Given the description of an element on the screen output the (x, y) to click on. 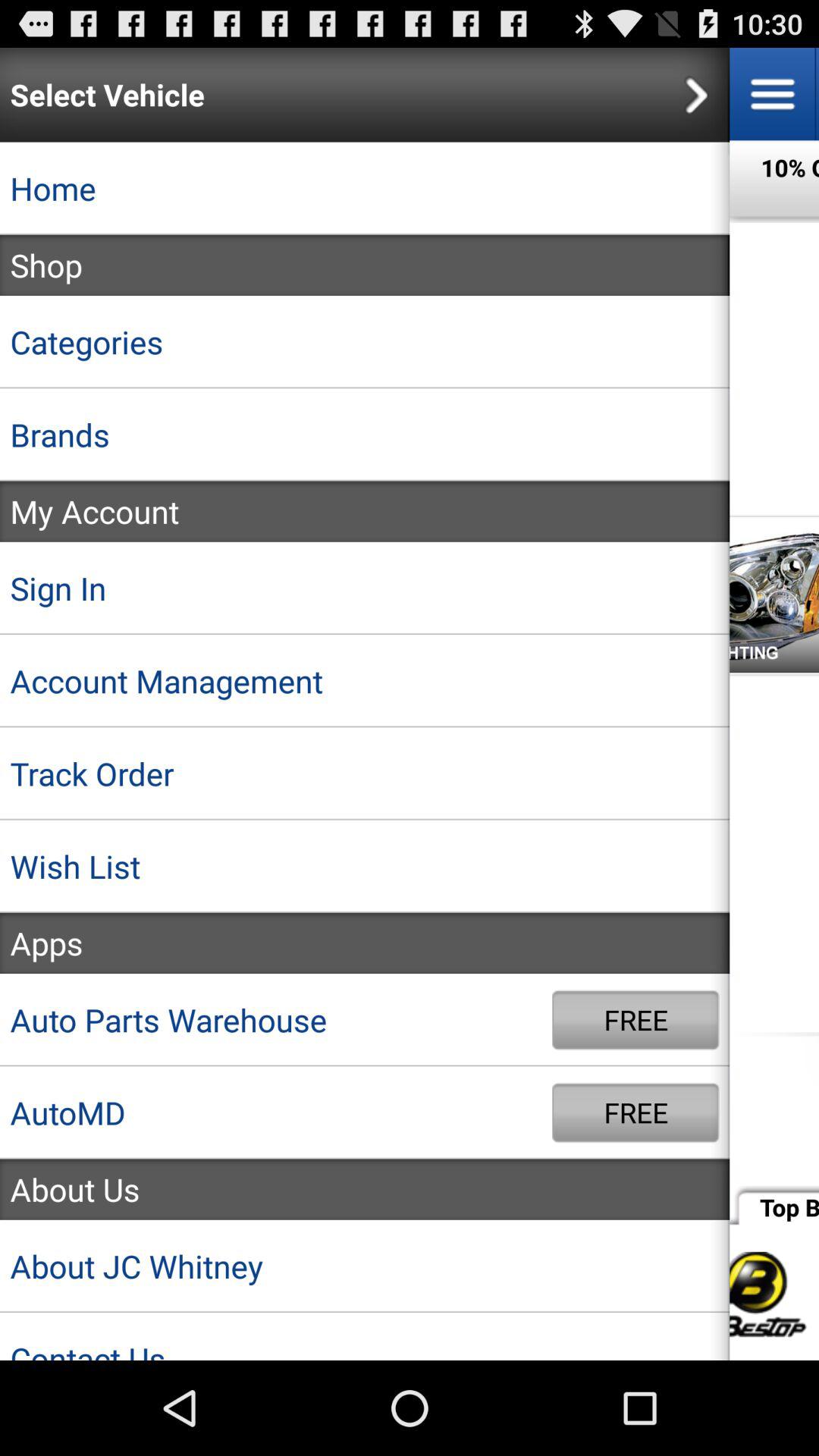
choose the categories (364, 341)
